Given the description of an element on the screen output the (x, y) to click on. 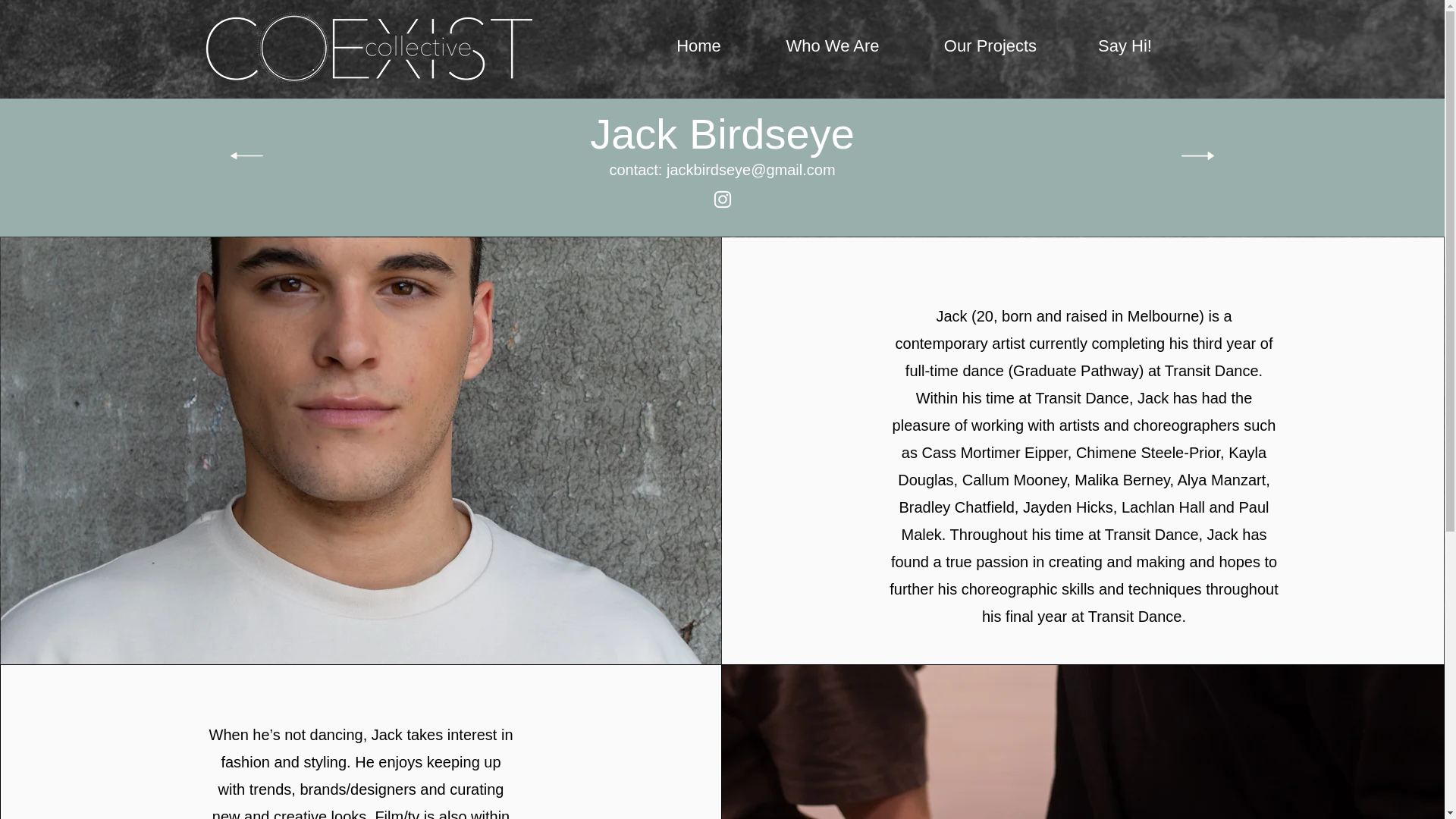
Our Projects (989, 46)
Who We Are (833, 46)
Home (699, 46)
Say Hi! (1124, 46)
